Given the description of an element on the screen output the (x, y) to click on. 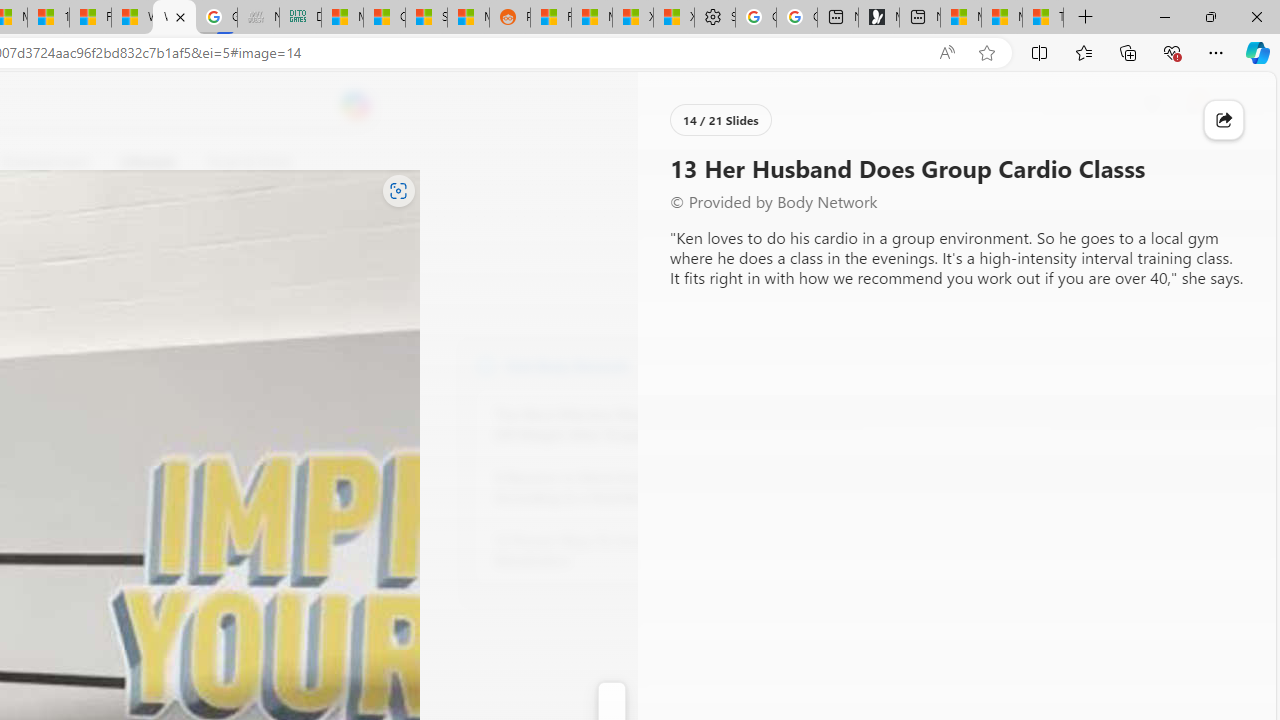
12 Proven Ways To Increase Your Metabolism (603, 550)
R******* | Trusted Community Engagement and Contributions (550, 17)
Fitness - MSN (90, 17)
